Given the description of an element on the screen output the (x, y) to click on. 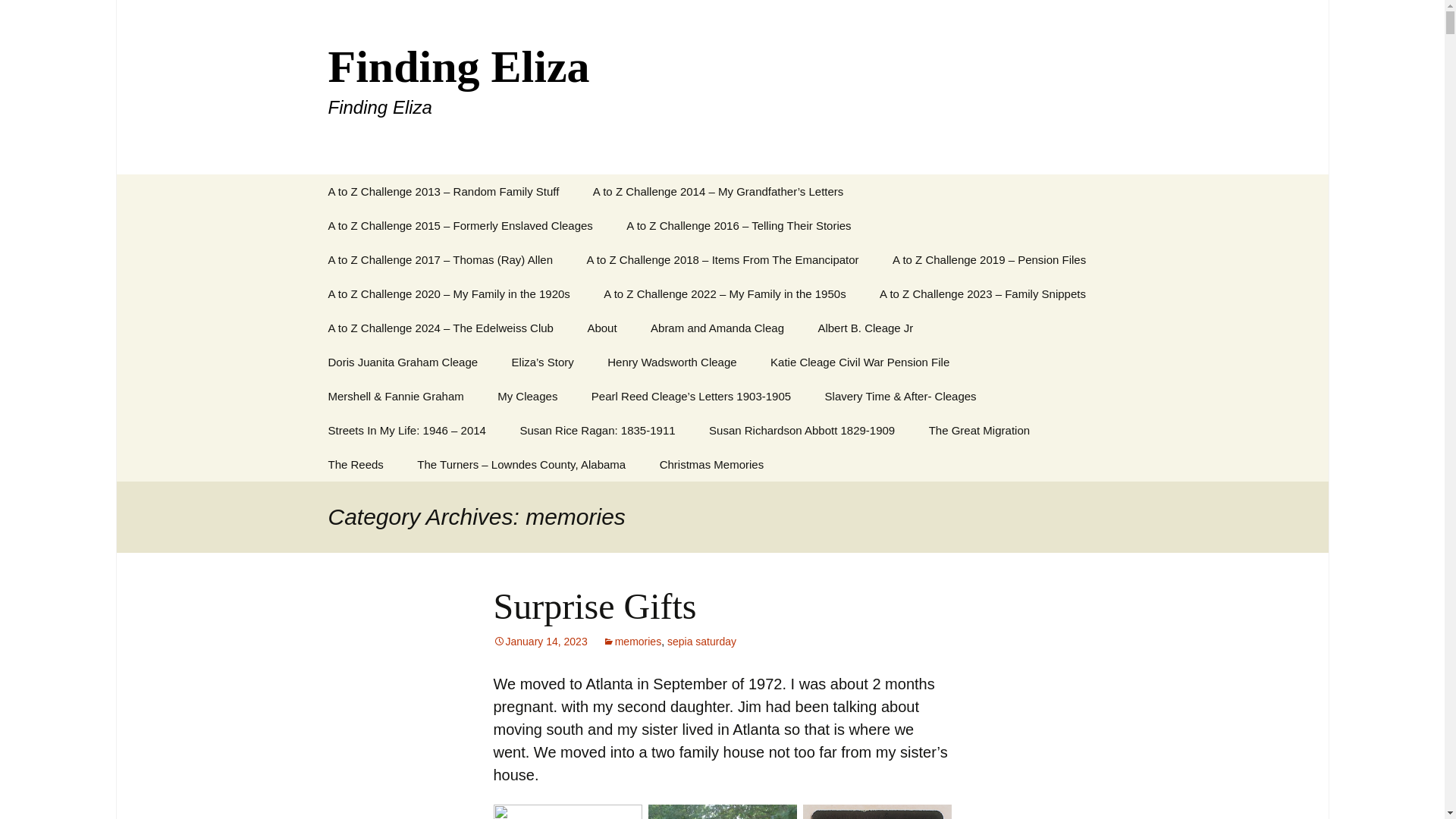
Abram and Amanda Cleag (716, 327)
January 14, 2023 (539, 641)
Henry Wadsworth Cleage (671, 361)
About (601, 327)
The Reeds (355, 464)
sepia saturday (403, 361)
The Great Migration (701, 641)
Permalink to Surprise Gifts (979, 430)
My Cleages (539, 641)
Surprise Gifts (526, 396)
Christmas Memories (594, 606)
Search (711, 464)
Skip to content (18, 15)
